Given the description of an element on the screen output the (x, y) to click on. 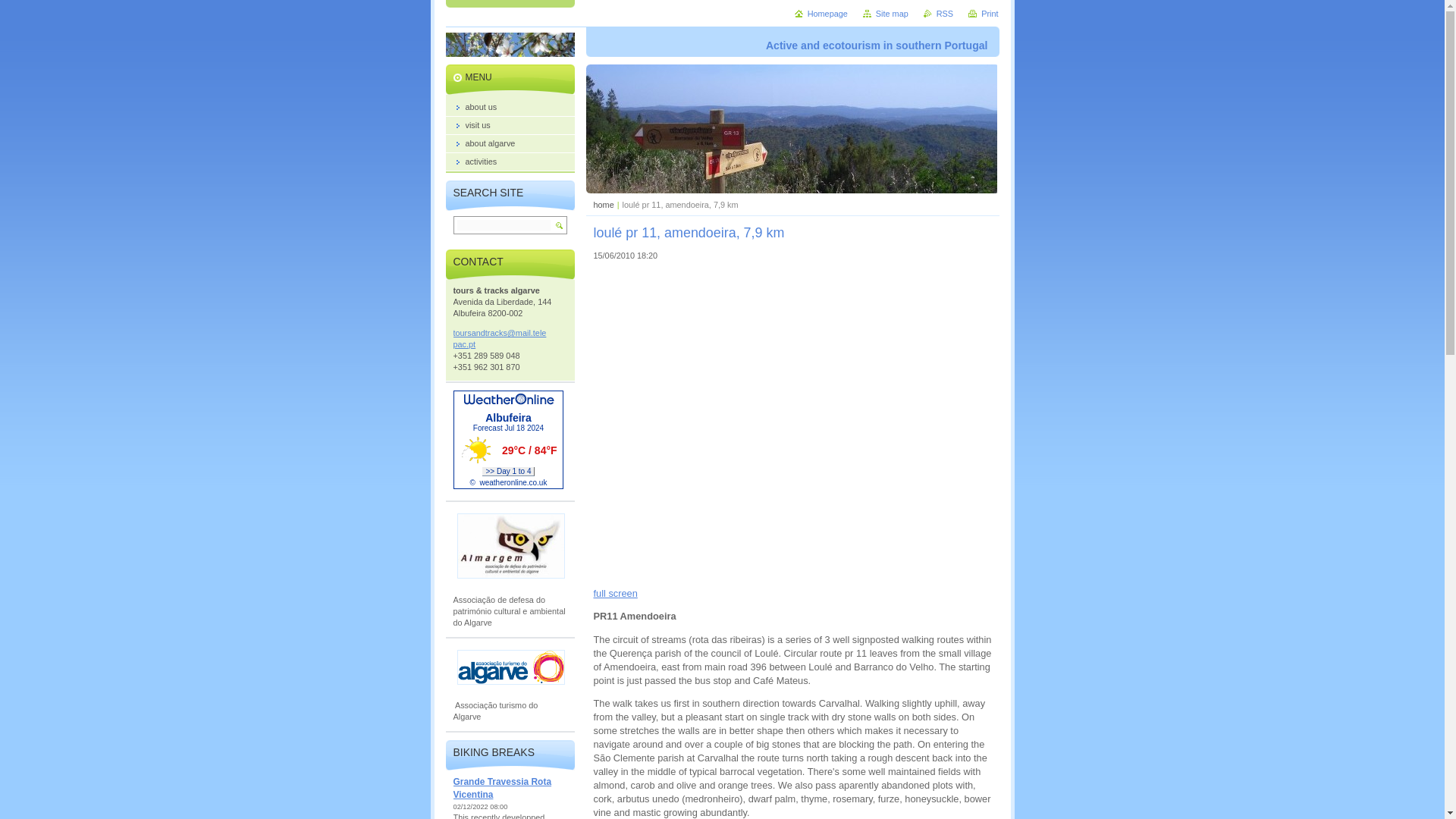
home (602, 204)
Grande Travessia Rota Vicentina (501, 788)
Go to Homepage. (820, 13)
about algarve (510, 144)
about us (510, 107)
Print page (982, 13)
Go to Homepage. (511, 50)
Homepage (820, 13)
RSS Feeds (938, 13)
Site map (885, 13)
Print (982, 13)
visit us (510, 126)
RSS (938, 13)
full screen (614, 593)
activities (510, 162)
